Given the description of an element on the screen output the (x, y) to click on. 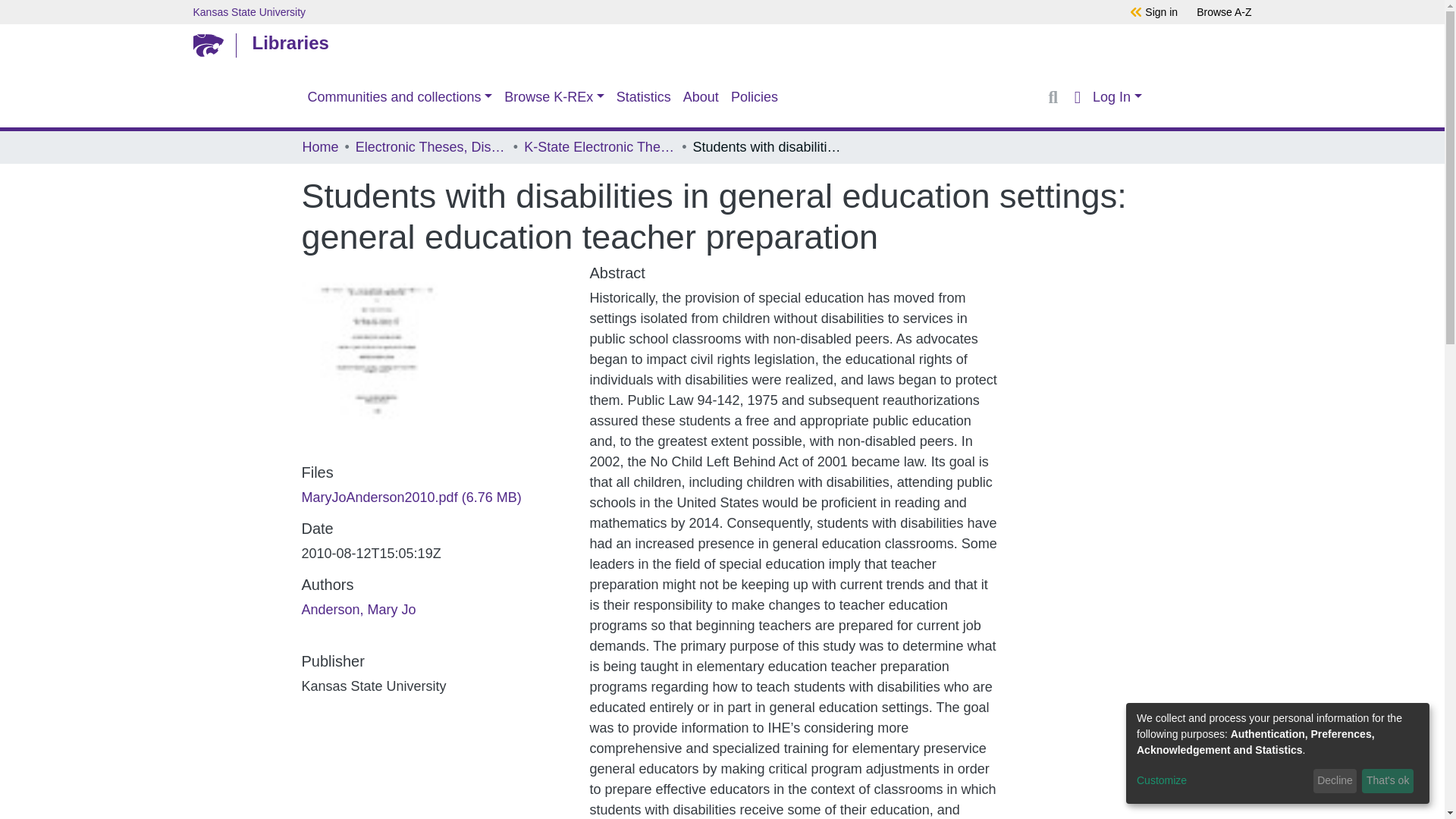
Policies (754, 97)
Language switch (1077, 96)
Browse K-REx (553, 97)
Kansas State University (625, 11)
Communities and collections (400, 97)
Home (319, 147)
Sign in (1160, 11)
Libraries (718, 43)
Browse A-Z (1223, 11)
Electronic Theses, Dissertations, and Reports (430, 147)
Policies (754, 97)
Anderson, Mary Jo (358, 609)
Statistics (643, 97)
About (701, 97)
Statistics (643, 97)
